Given the description of an element on the screen output the (x, y) to click on. 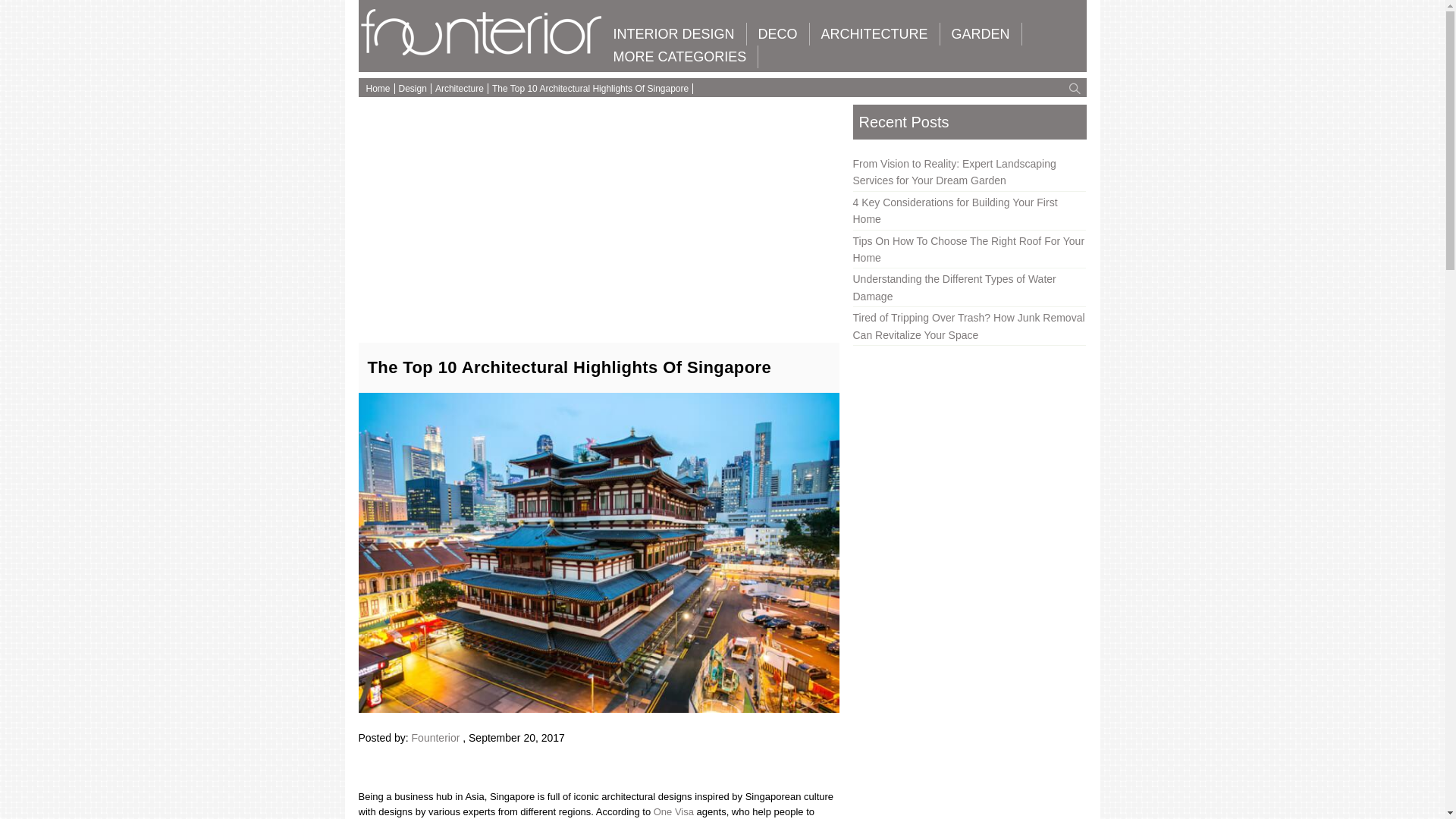
 Interior Design (673, 33)
Architecture (874, 33)
DECO (777, 33)
MORE CATEGORIES (680, 56)
Decoration (777, 33)
INTERIOR DESIGN (673, 33)
Founterior (481, 51)
ARCHITECTURE (874, 33)
GARDEN (981, 33)
Advertisement (598, 213)
